Given the description of an element on the screen output the (x, y) to click on. 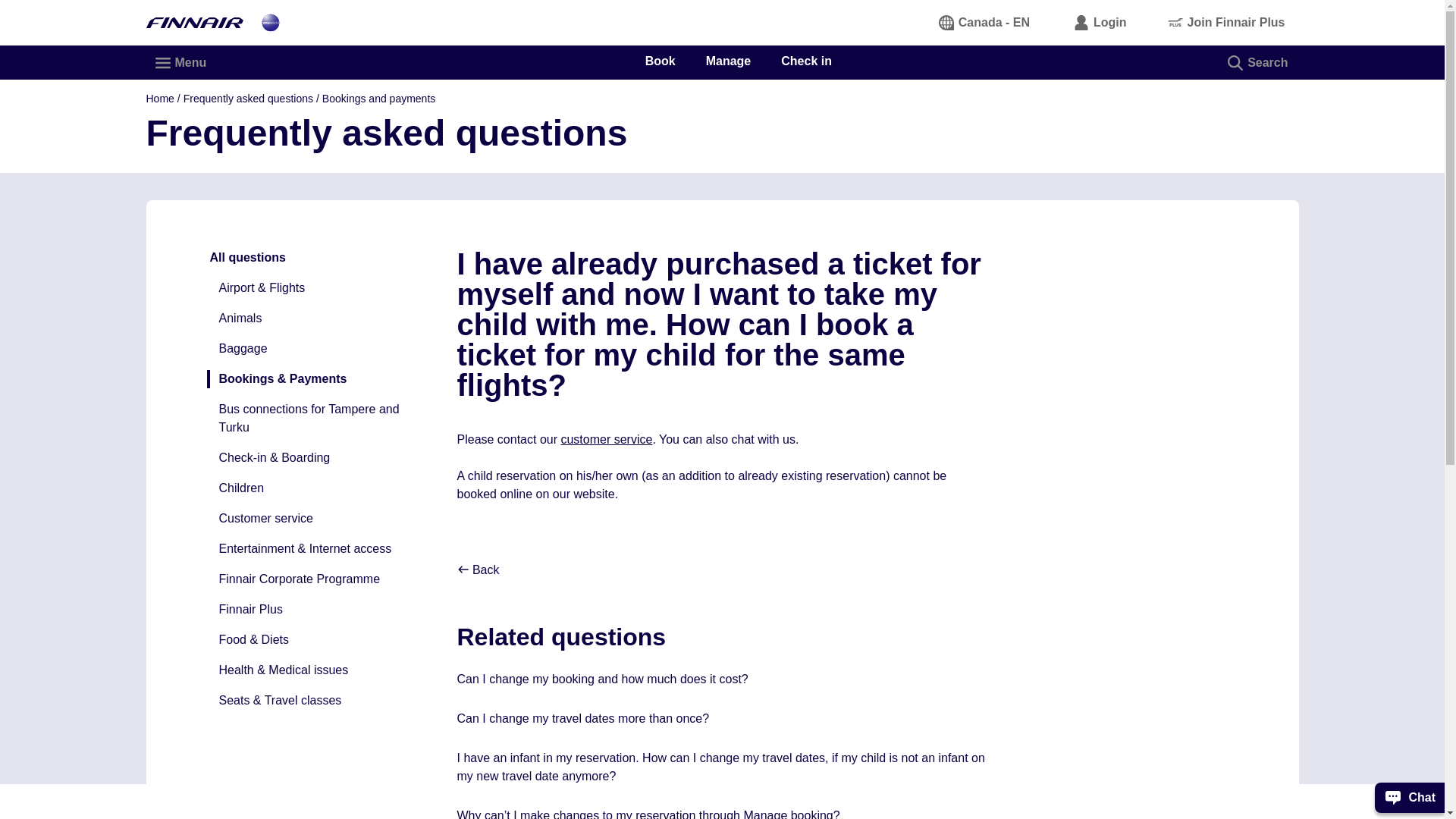
Join Finnair Plus (1227, 22)
Manage (728, 61)
Search (1258, 61)
Book (660, 61)
Login (1100, 22)
Canada - EN (984, 22)
Check in (805, 61)
Menu (180, 61)
